Given the description of an element on the screen output the (x, y) to click on. 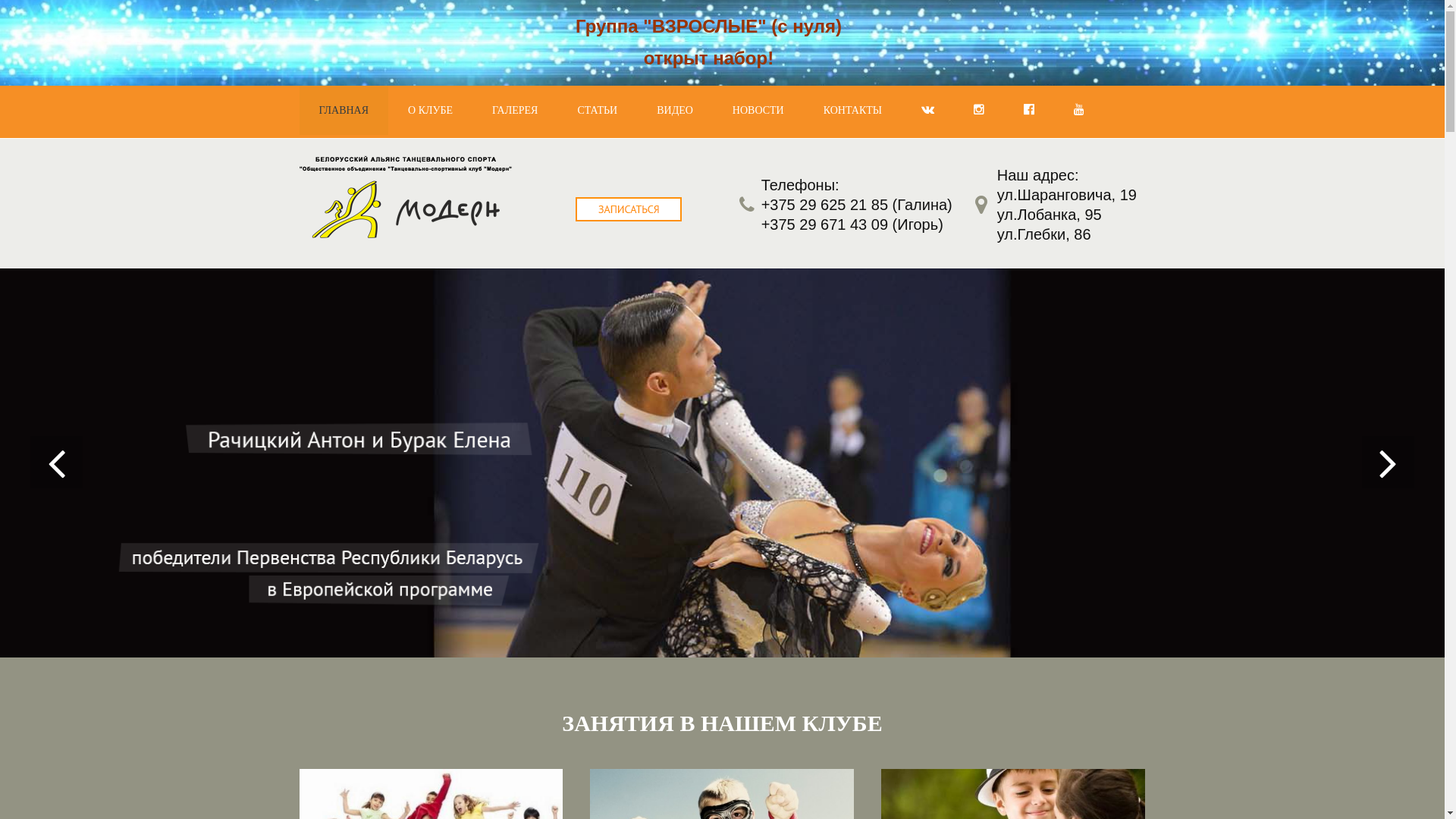
youtube Element type: text (1079, 111)
instagram Element type: text (978, 111)
facebook Element type: text (1029, 111)
  Element type: text (627, 209)
vk Element type: text (927, 111)
